Given the description of an element on the screen output the (x, y) to click on. 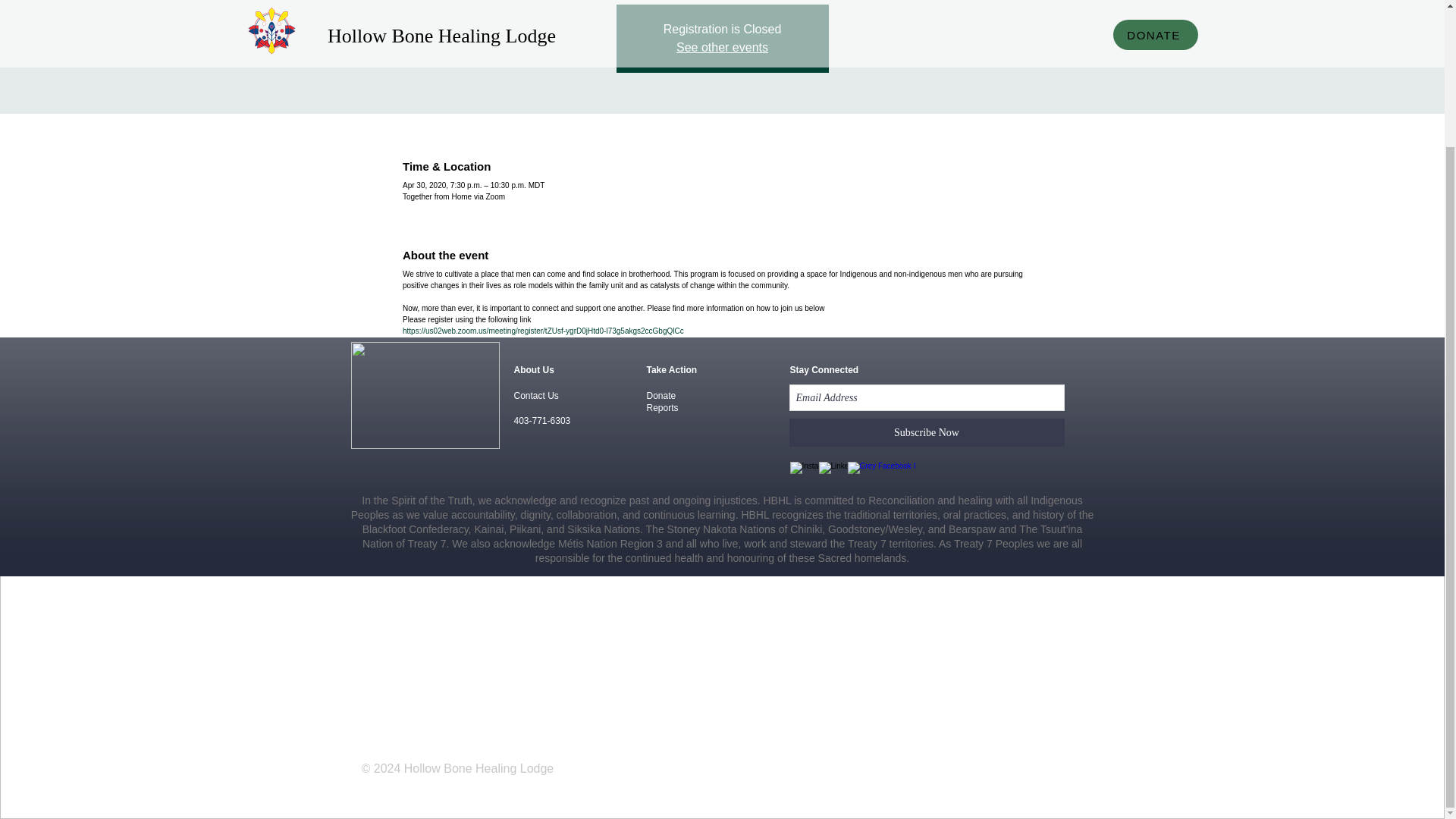
Donate (660, 395)
403-771-6303 (541, 420)
See other events (722, 47)
Subscribe Now (926, 432)
